Given the description of an element on the screen output the (x, y) to click on. 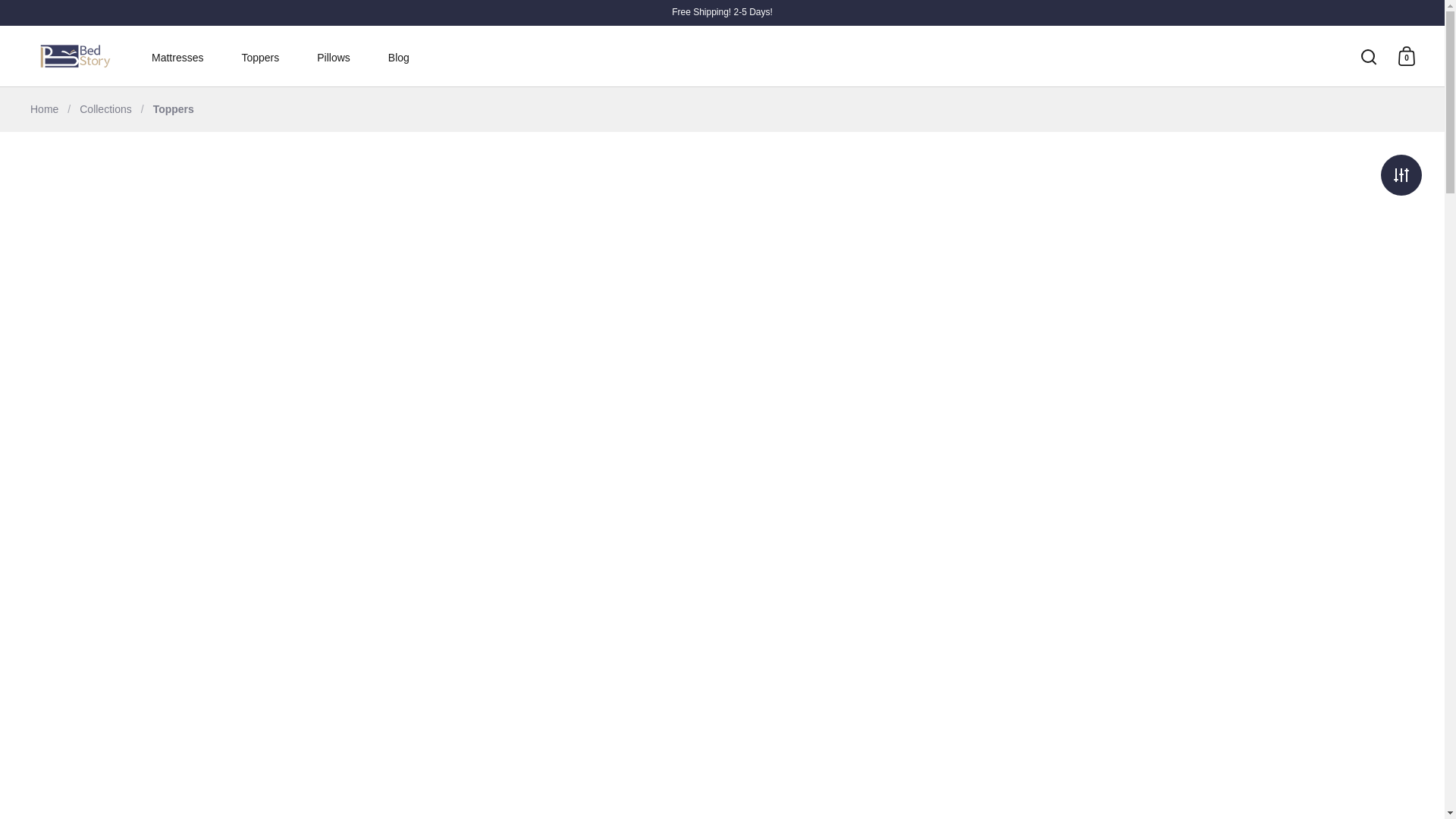
Blog (398, 57)
Free Shipping! 2-5 Days! (722, 12)
Open cart (1406, 55)
Open search (1369, 55)
Toppers (263, 57)
Mattresses (180, 57)
Pillows (336, 57)
